Given the description of an element on the screen output the (x, y) to click on. 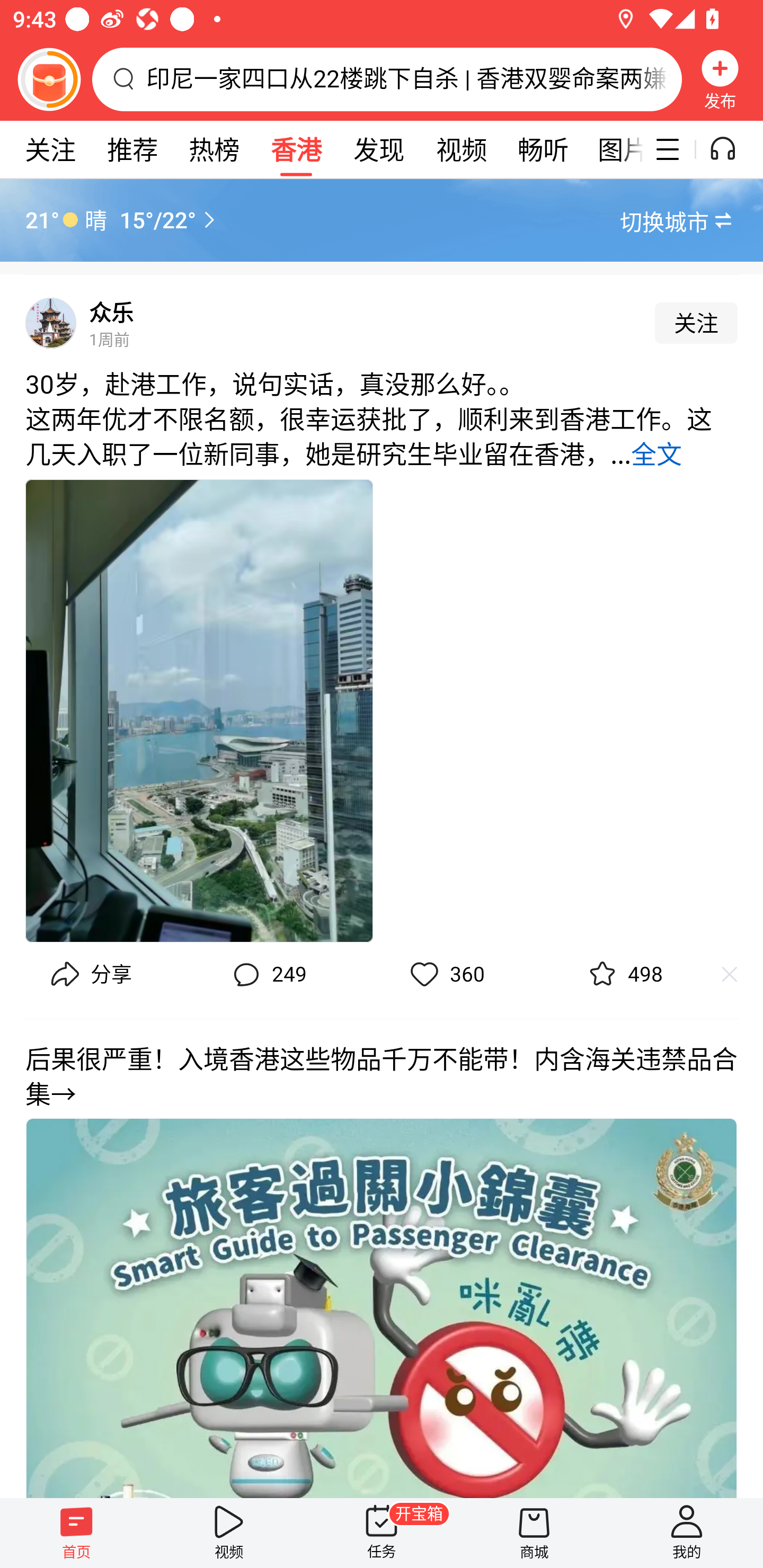
阅读赚金币 (48, 79)
发布 发布，按钮 (720, 78)
关注 (50, 149)
推荐 (132, 149)
热榜 (213, 149)
香港 (295, 149)
发现 (378, 149)
视频 (461, 149)
畅听 (542, 149)
图片 (613, 149)
听一听开关 (732, 149)
众乐 (111, 312)
众乐头像 (50, 322)
关注 (695, 322)
分享 (88, 975)
评论,249 249 (266, 975)
收藏,498 498 (622, 975)
后果很严重！入境香港这些物品千万不能带！内含海关违禁品合集→ (381, 1258)
首页 (76, 1532)
视频 (228, 1532)
任务 开宝箱 (381, 1532)
商城 (533, 1532)
我的 (686, 1532)
